Given the description of an element on the screen output the (x, y) to click on. 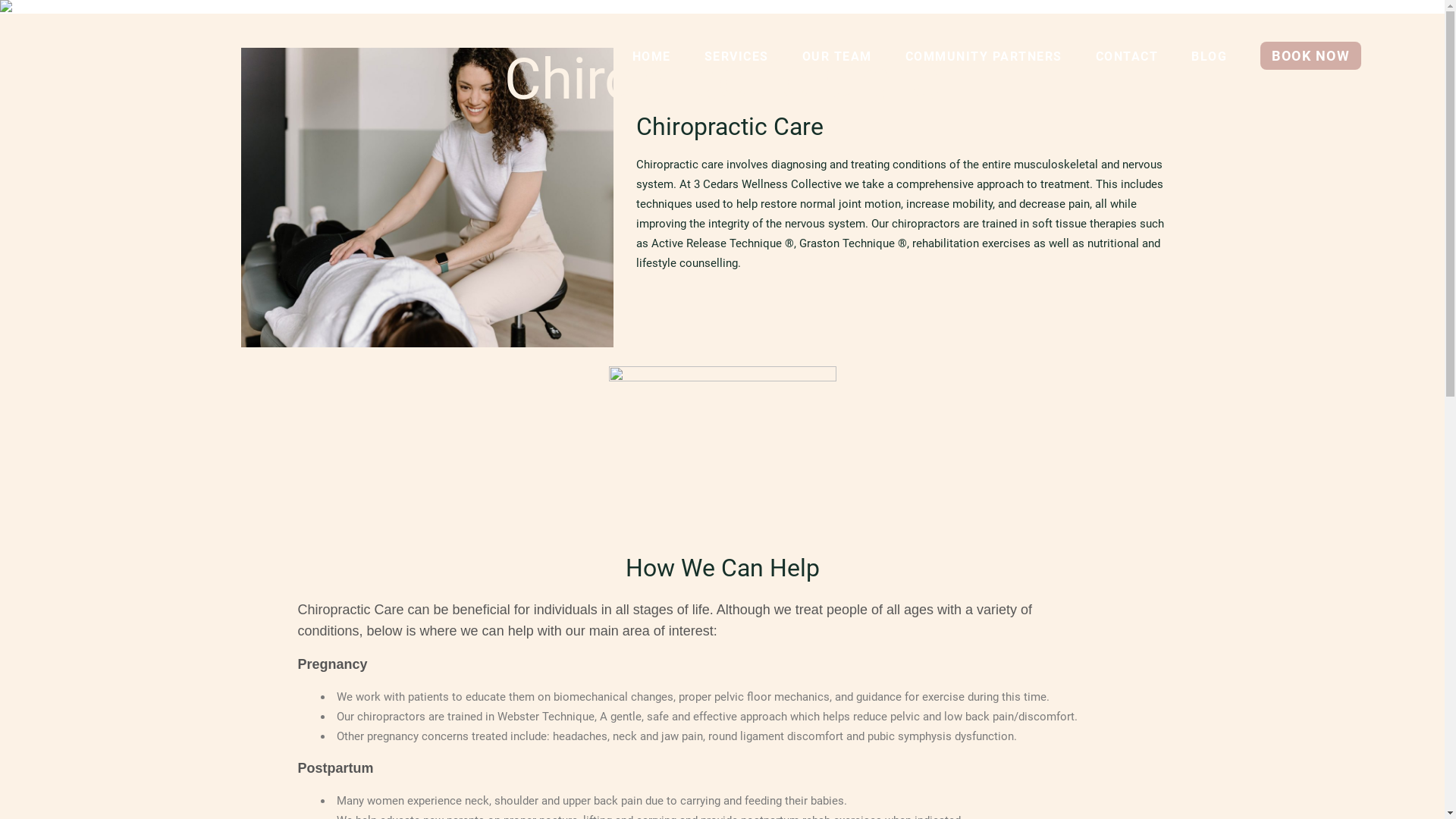
Call us: 250-754-6776 Element type: text (836, 577)
HOME Element type: text (651, 56)
BLOG Element type: text (1208, 56)
6-5769 Turner Rd. Nanaimo Element type: text (852, 619)
@3cedarswellness Element type: text (828, 661)
SERVICES Element type: text (736, 56)
COMMUNITY PARTNERS Element type: text (983, 56)
OUR TEAM Element type: text (836, 56)
CONTACT Element type: text (1127, 56)
hello@3cedarswellness.com Element type: text (854, 536)
BOOK NOW Element type: text (1310, 56)
3 Cedars Wellness Element type: text (827, 702)
